Given the description of an element on the screen output the (x, y) to click on. 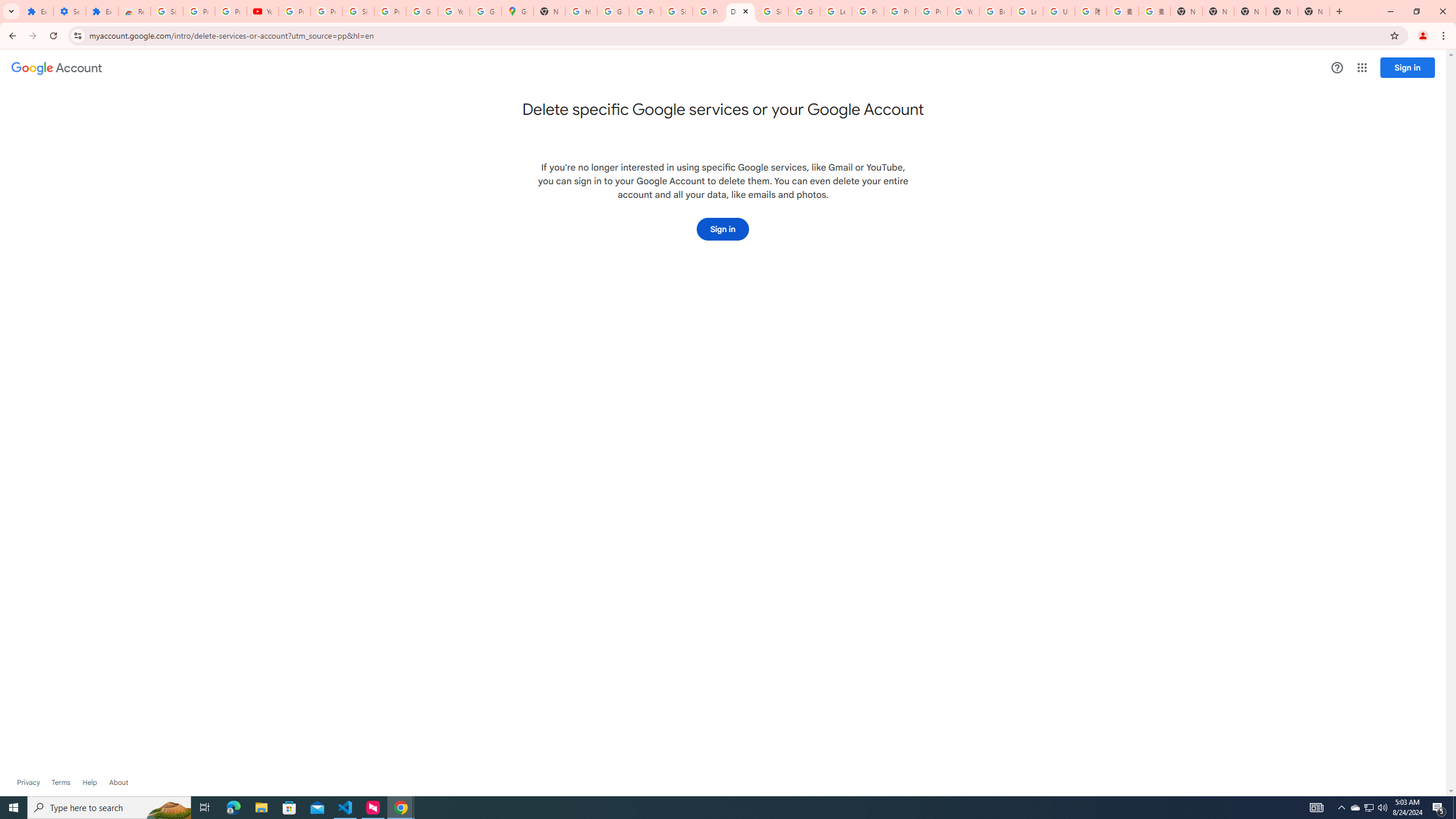
Extensions (37, 11)
Reviews: Helix Fruit Jump Arcade Game (134, 11)
Sign in - Google Accounts (772, 11)
Google Account settings (56, 68)
Privacy (28, 782)
Extensions (101, 11)
YouTube (262, 11)
Google Account (421, 11)
